Given the description of an element on the screen output the (x, y) to click on. 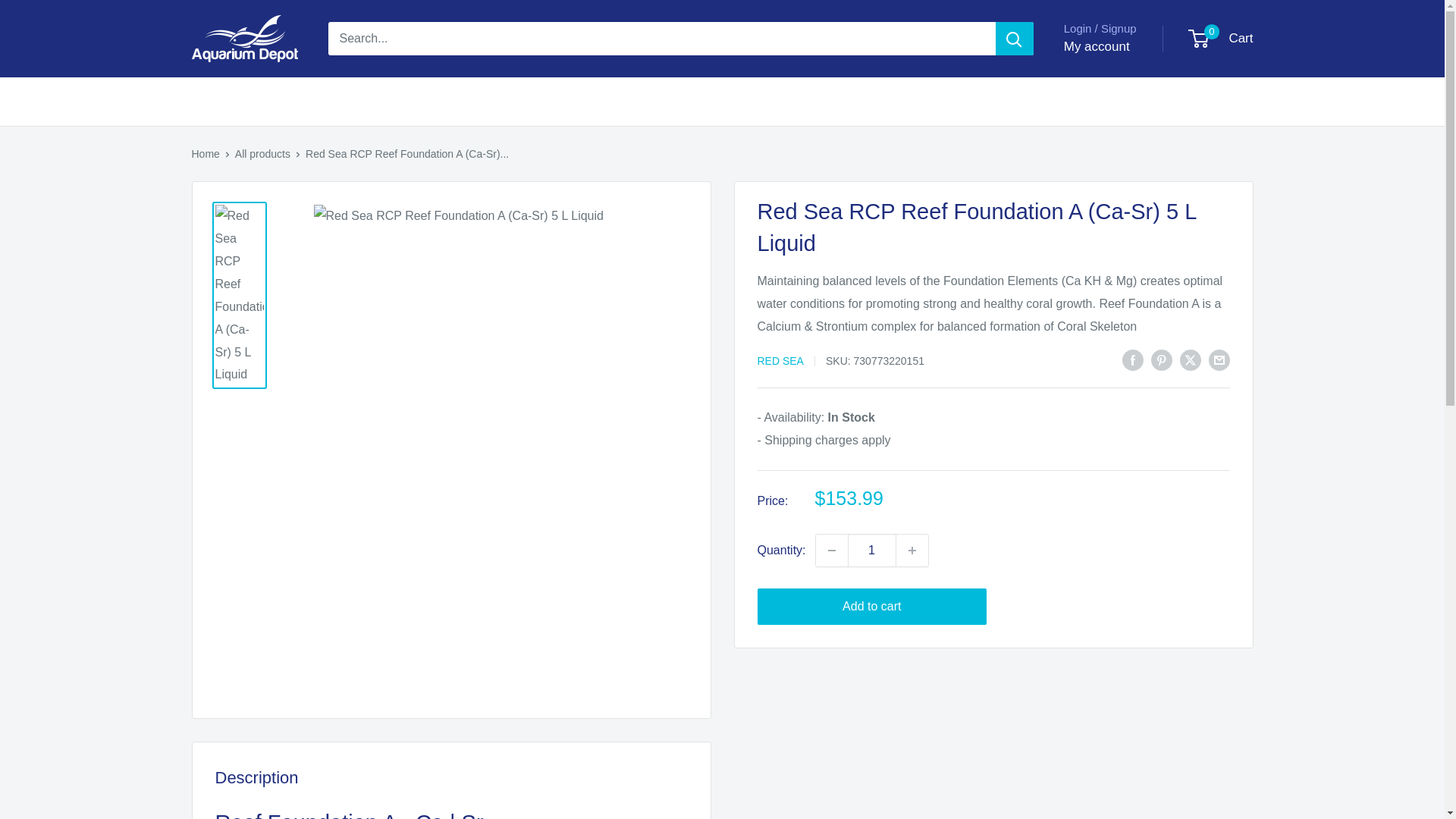
Increase quantity by 1 (912, 550)
1 (871, 550)
Decrease quantity by 1 (831, 550)
